Given the description of an element on the screen output the (x, y) to click on. 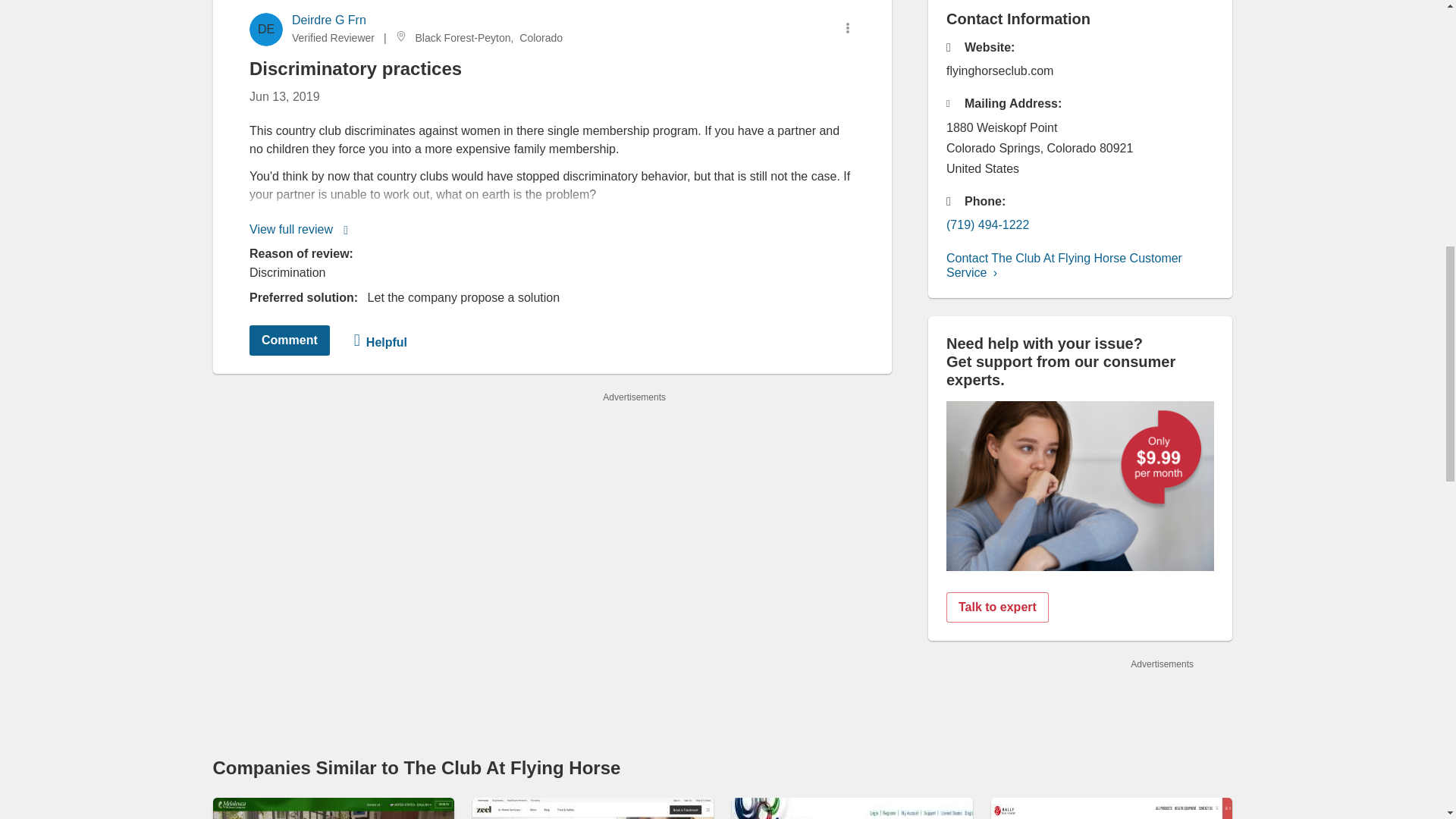
Contact Information (1064, 265)
Deirdre G Frn - Profile Info (328, 19)
Contact The Club At Flying Horse Customer Service (1064, 265)
Deirdre G Frn (328, 19)
